Given the description of an element on the screen output the (x, y) to click on. 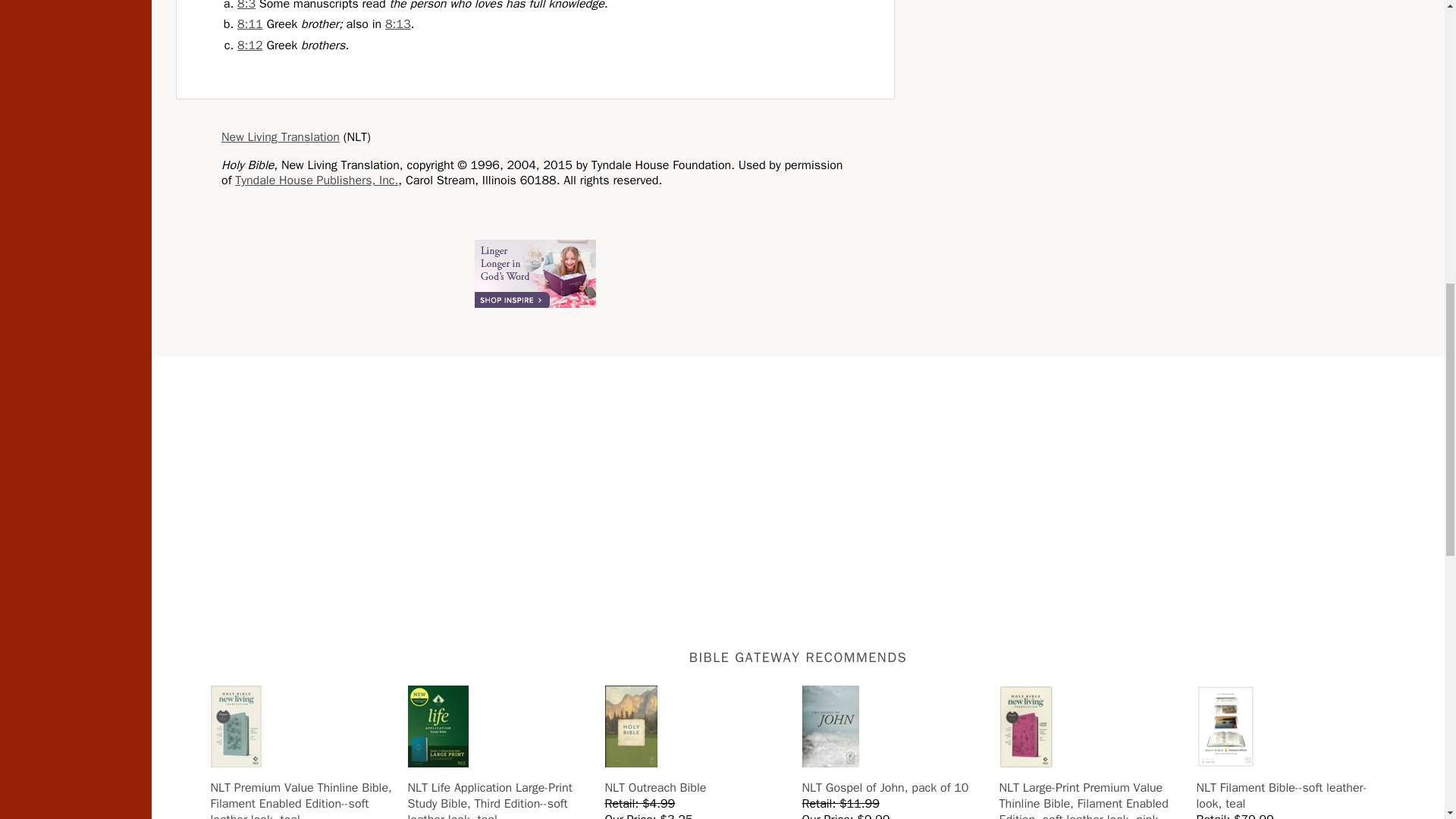
8:11 (250, 23)
Go to 1 Corinthians 8:11 (250, 23)
8:3 (246, 5)
Go to 1 Corinthians 8:3 (246, 5)
Go to 1 Corinthians 8:12 (250, 45)
8:12 (250, 45)
8:13 (397, 23)
